Given the description of an element on the screen output the (x, y) to click on. 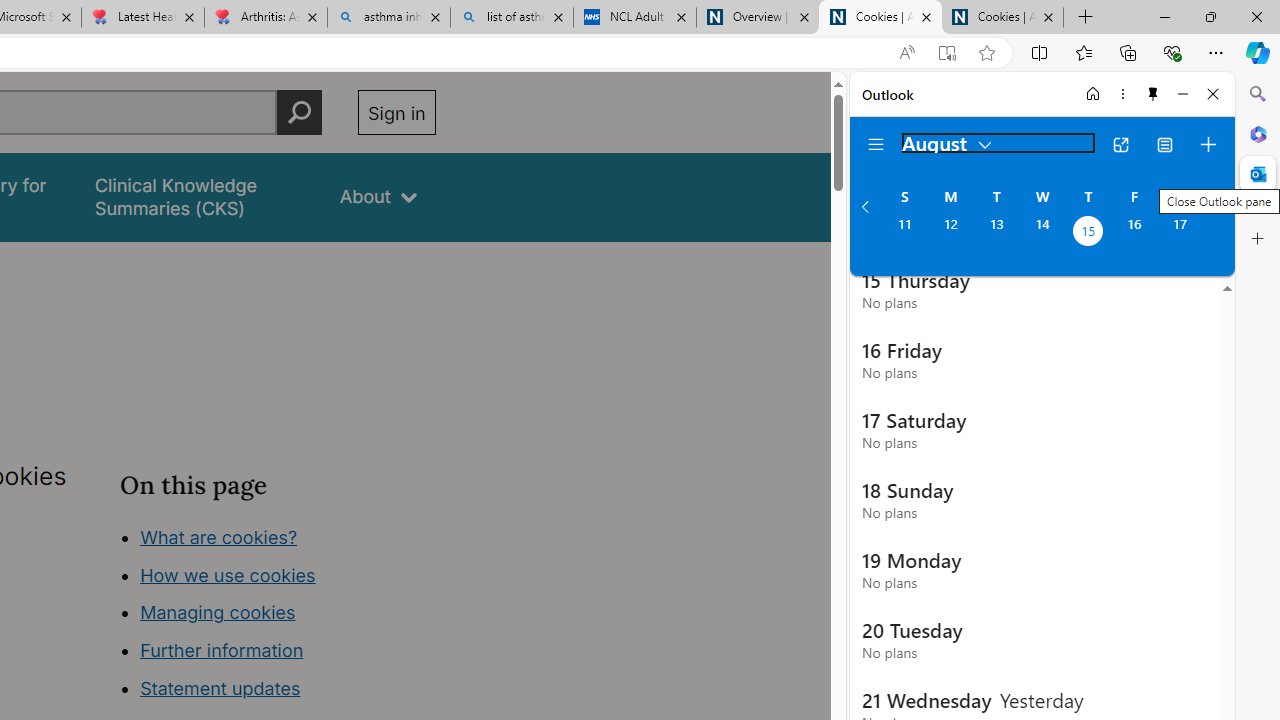
View Switcher. Current view is Agenda view (1165, 144)
Saturday, August 17, 2024.  (1180, 233)
Perform search (299, 112)
Create event (1208, 144)
Monday, August 12, 2024.  (950, 233)
false (198, 196)
Unpin side pane (1153, 93)
What are cookies? (218, 536)
Statement updates (219, 688)
Folder navigation (876, 144)
